Given the description of an element on the screen output the (x, y) to click on. 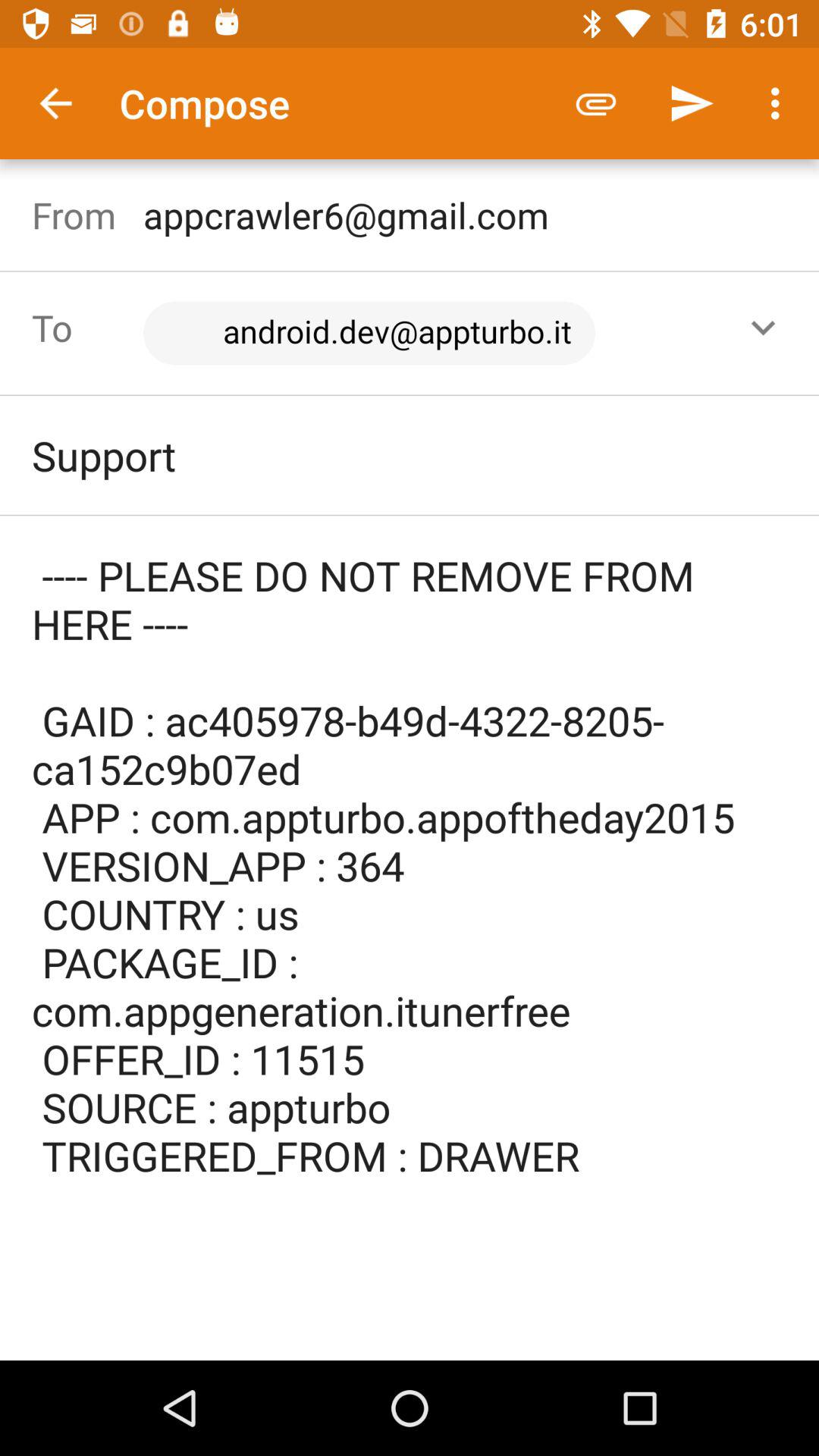
tap the icon to the right of compose icon (595, 103)
